Given the description of an element on the screen output the (x, y) to click on. 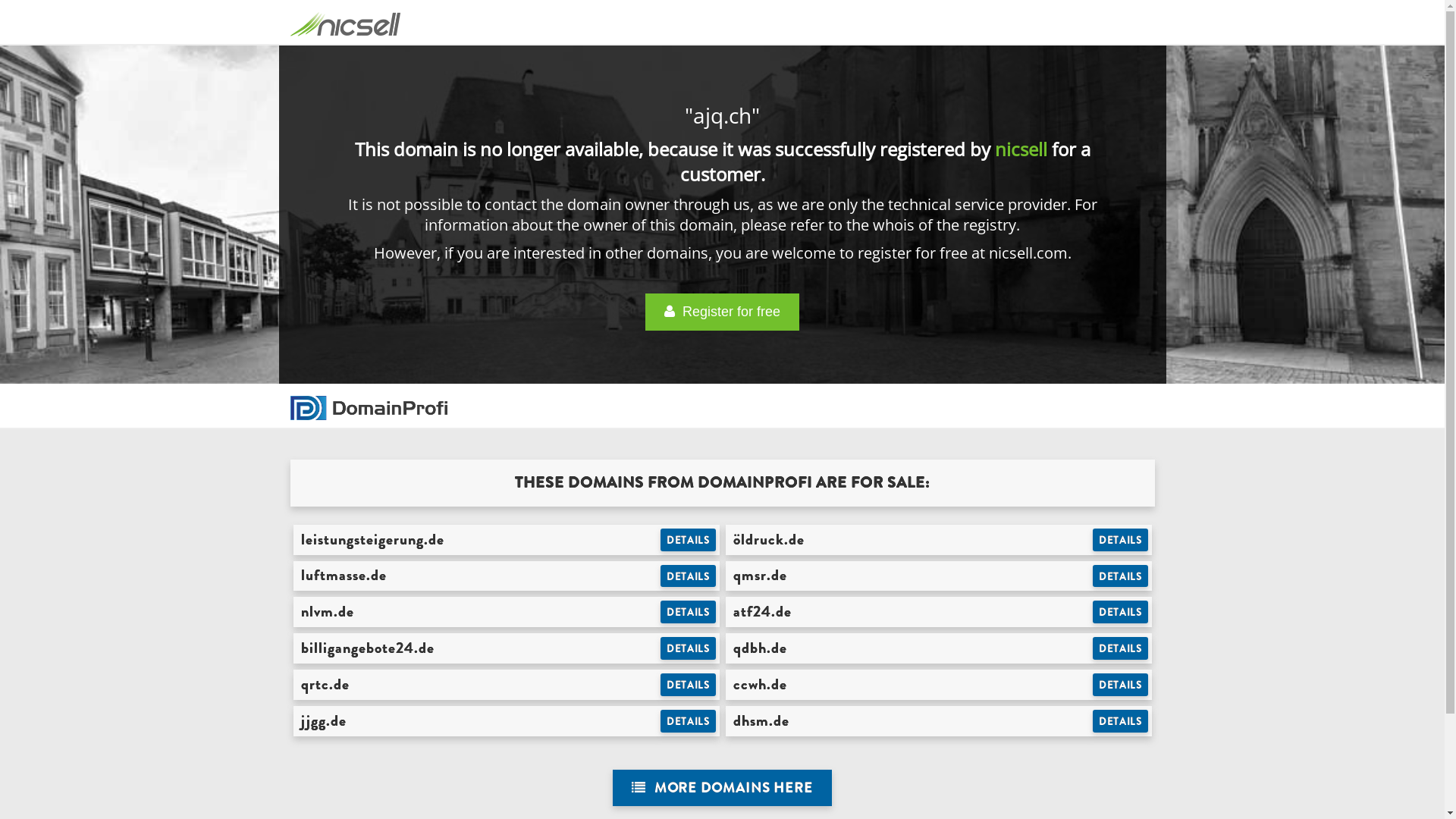
  Register for free Element type: text (722, 311)
DETAILS Element type: text (687, 611)
  MORE DOMAINS HERE Element type: text (721, 787)
DETAILS Element type: text (687, 539)
DETAILS Element type: text (687, 684)
DETAILS Element type: text (1120, 648)
DETAILS Element type: text (687, 648)
DETAILS Element type: text (1120, 611)
DETAILS Element type: text (687, 720)
DETAILS Element type: text (1120, 720)
nicsell Element type: text (1020, 148)
DETAILS Element type: text (1120, 539)
DETAILS Element type: text (687, 575)
DETAILS Element type: text (1120, 684)
DETAILS Element type: text (1120, 575)
